Given the description of an element on the screen output the (x, y) to click on. 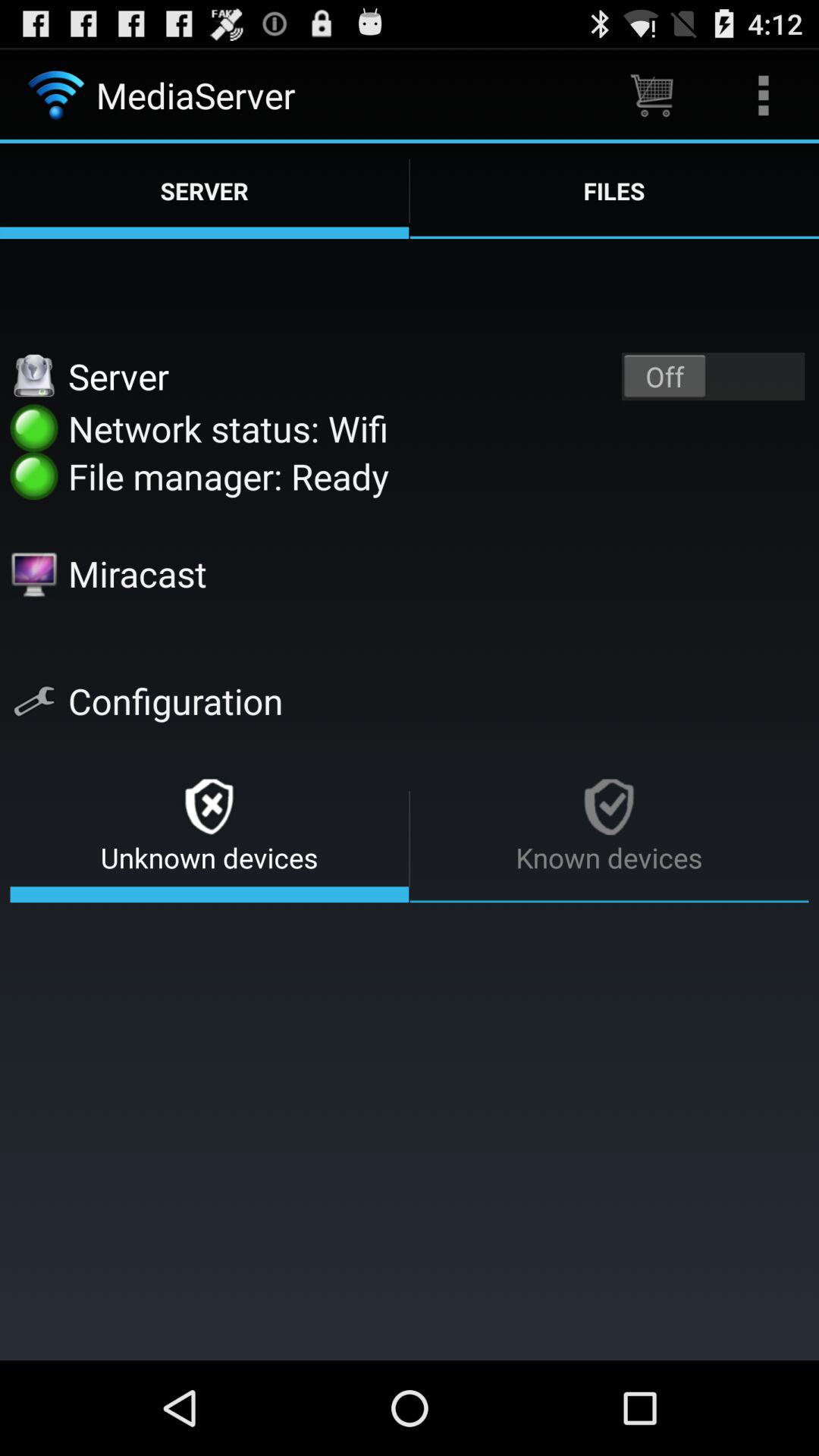
turn on item to the right of the mediaserver item (651, 95)
